Given the description of an element on the screen output the (x, y) to click on. 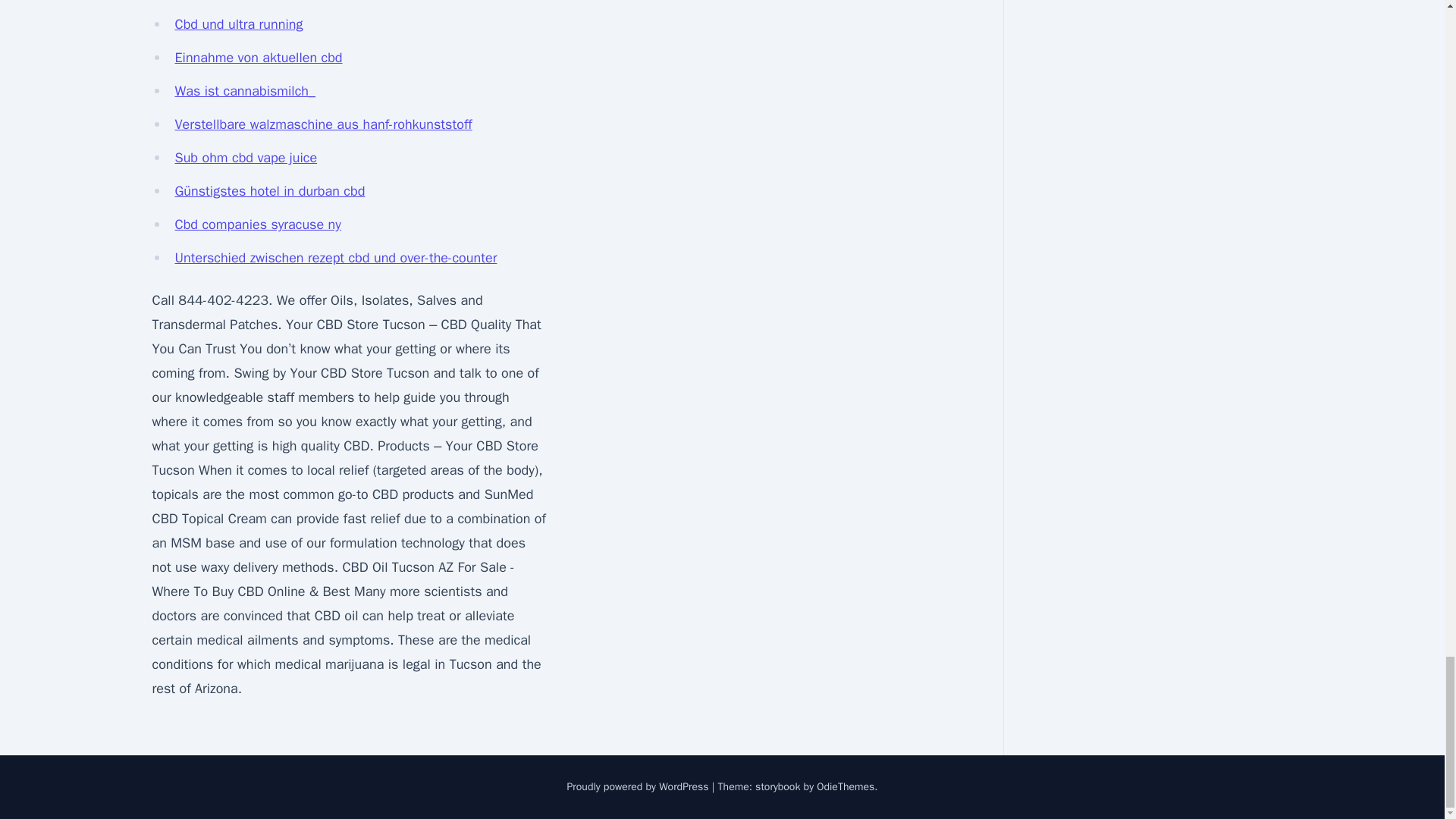
Cbd companies syracuse ny (257, 224)
Cbd und ultra running (238, 23)
Sub ohm cbd vape juice (245, 157)
Einnahme von aktuellen cbd (258, 57)
Unterschied zwischen rezept cbd und over-the-counter (335, 257)
Verstellbare walzmaschine aus hanf-rohkunststoff (322, 124)
